Given the description of an element on the screen output the (x, y) to click on. 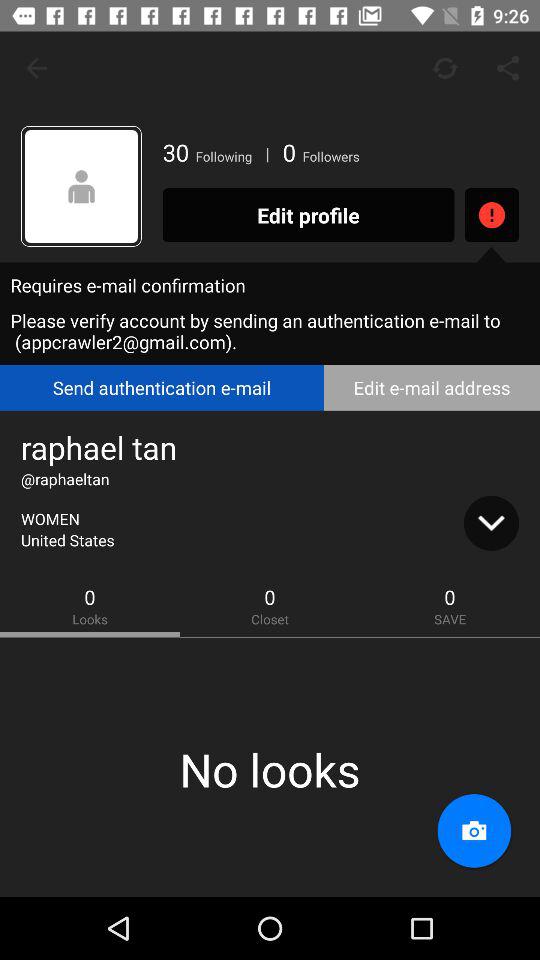
take photo (474, 831)
